Given the description of an element on the screen output the (x, y) to click on. 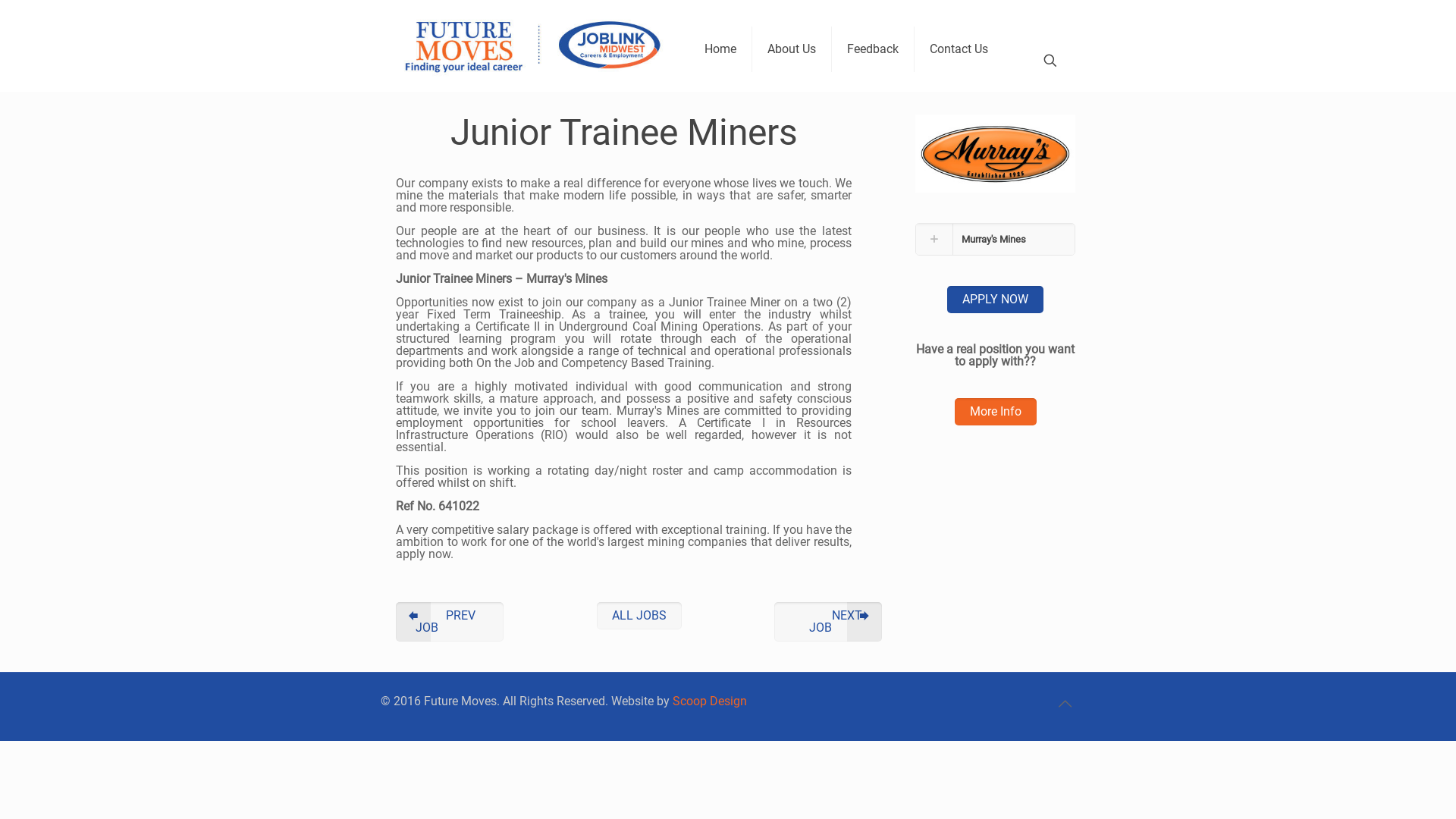
About Us Element type: text (791, 49)
APPLY NOW Element type: text (995, 299)
Home Element type: text (720, 49)
ALL JOBS Element type: text (638, 615)
More Info Element type: text (994, 411)
PREV JOB Element type: text (449, 621)
Future Moves Element type: hover (530, 45)
Feedback Element type: text (872, 49)
NEXT JOB Element type: text (827, 621)
Contact Us Element type: text (958, 49)
Scoop Design Element type: text (709, 700)
